Given the description of an element on the screen output the (x, y) to click on. 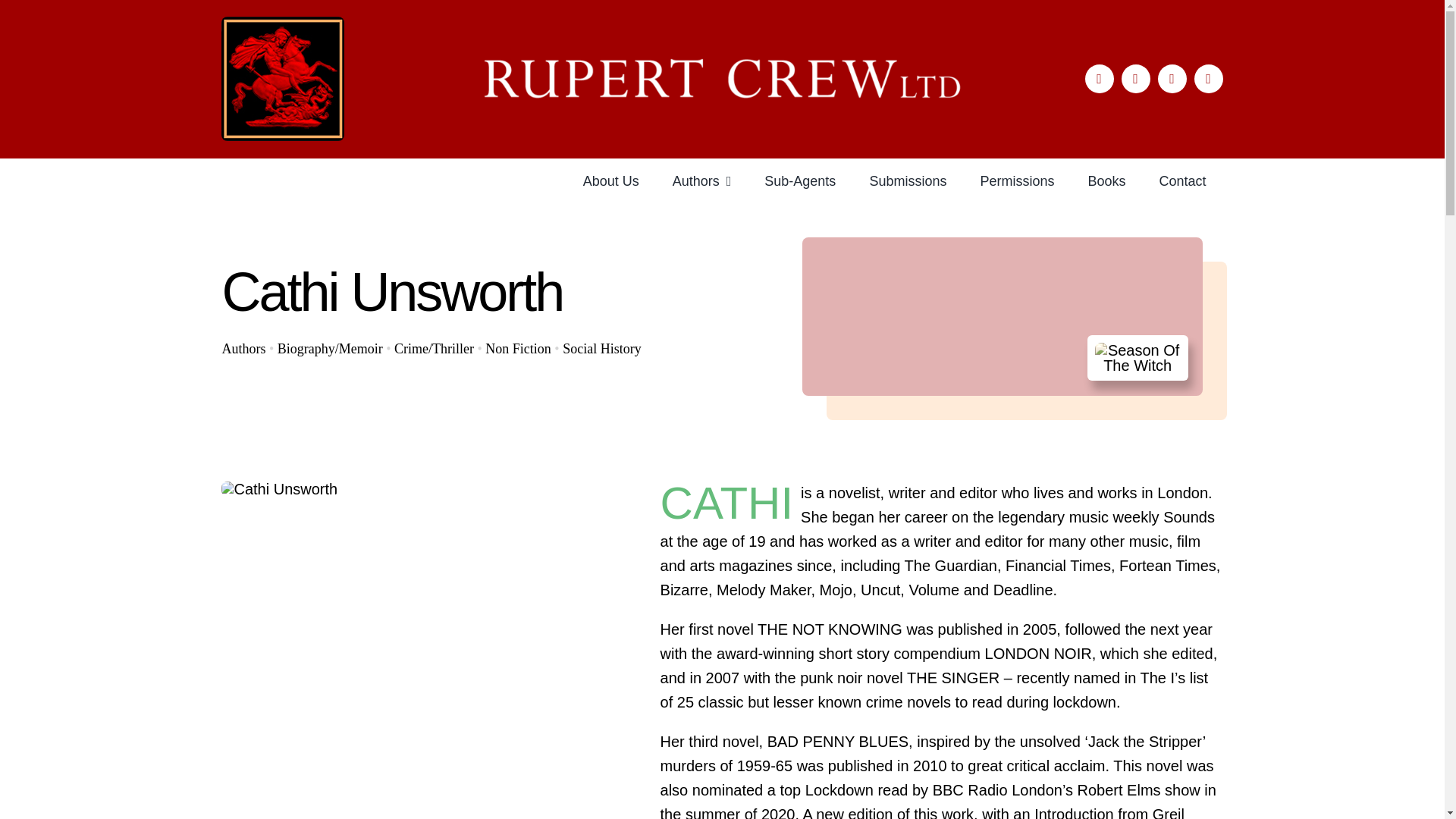
Books (1105, 180)
Authors (242, 348)
Contact (1182, 180)
Non Fiction (517, 348)
Season Of The Witch (1137, 358)
Authors (702, 180)
Social History (602, 348)
RupertCrew-Text (721, 78)
Authors (242, 348)
About Us (611, 180)
Permissions (1016, 180)
Cathi Unsworth (279, 488)
Social History (602, 348)
Non Fiction (517, 348)
Submissions (906, 180)
